Given the description of an element on the screen output the (x, y) to click on. 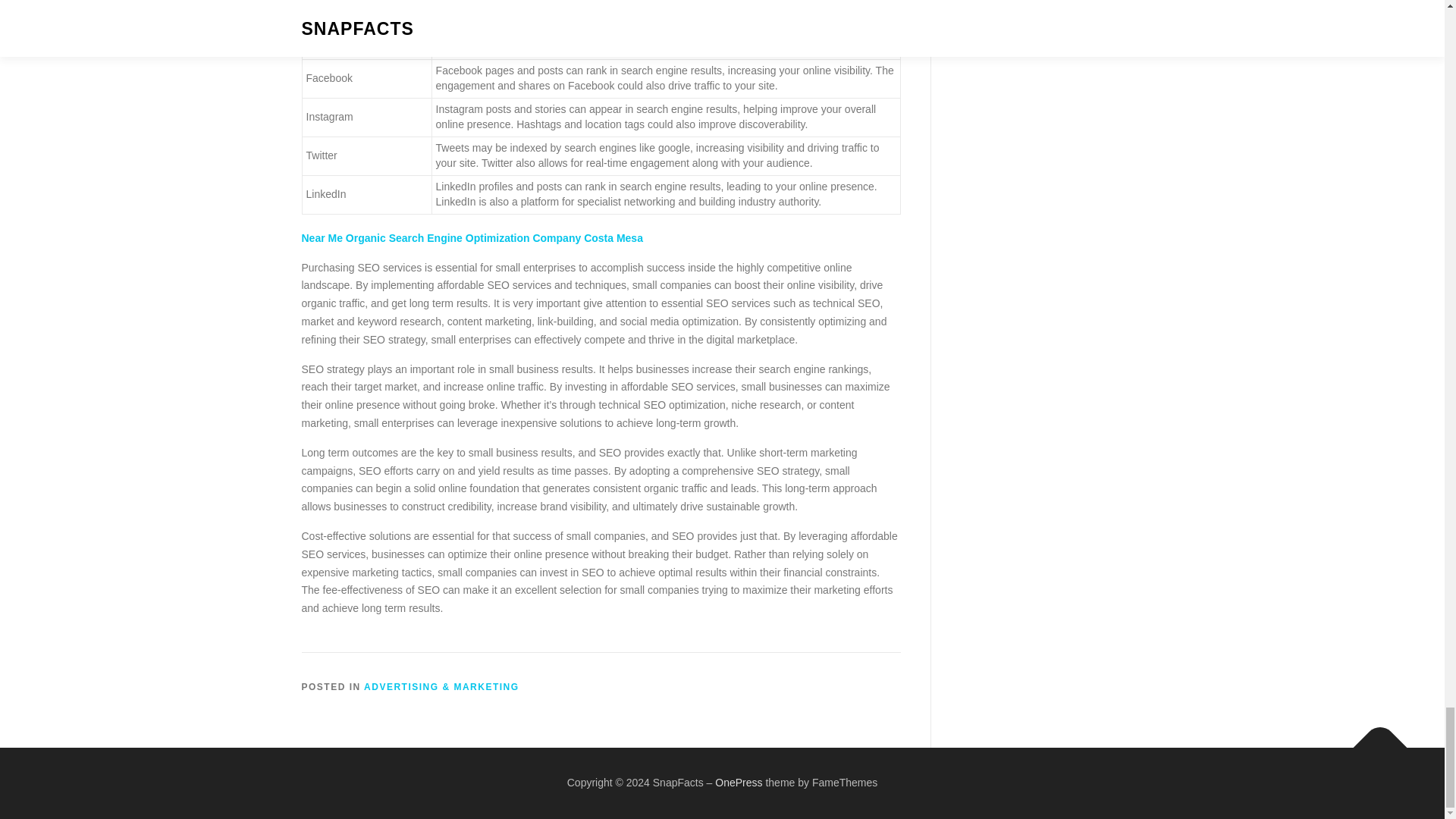
Back To Top (1372, 740)
